Given the description of an element on the screen output the (x, y) to click on. 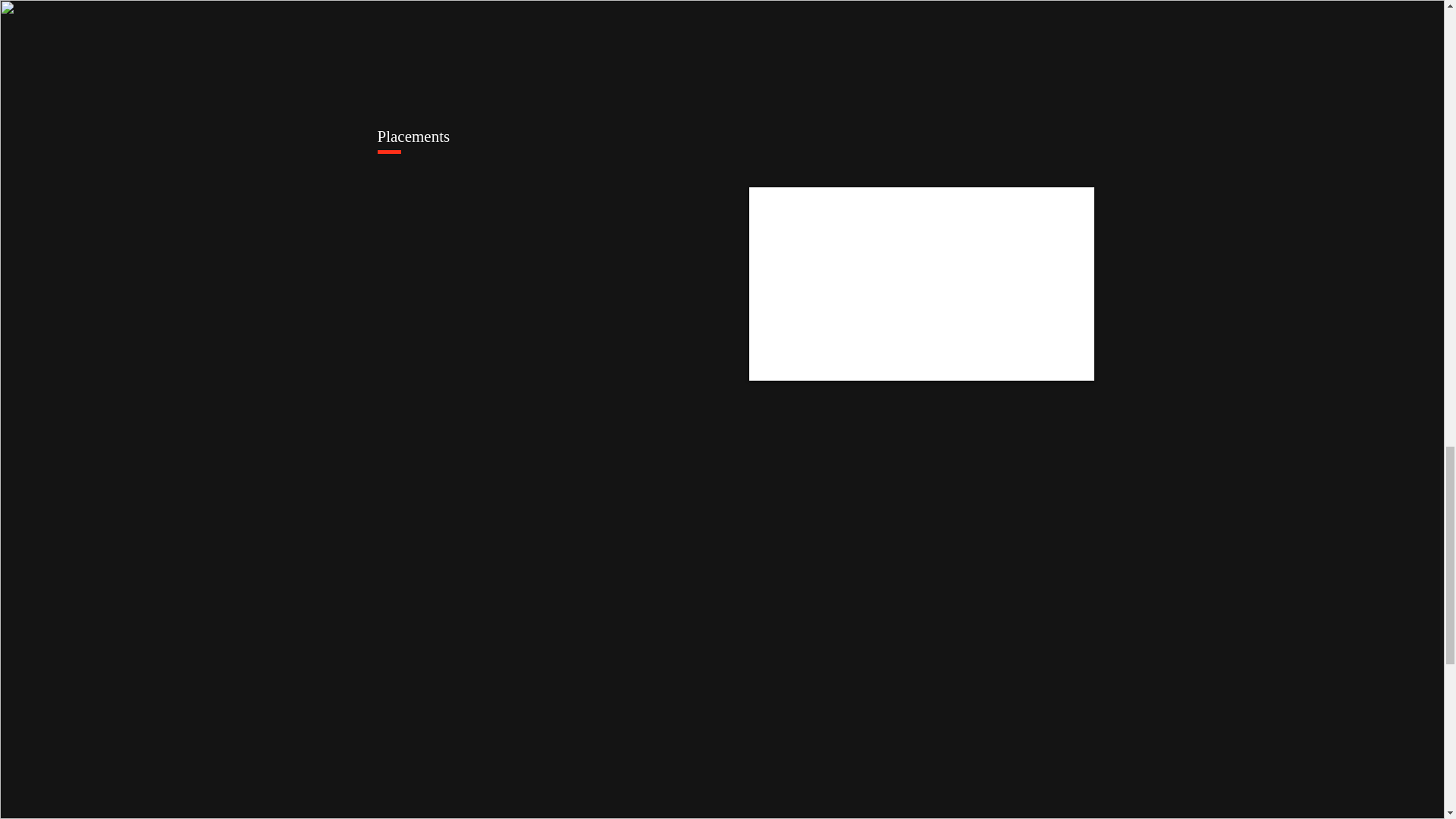
External YouTube (549, 283)
External YouTube (921, 283)
External YouTube (916, 744)
External YouTube (550, 744)
External YouTube (921, 527)
External YouTube (549, 527)
